Given the description of an element on the screen output the (x, y) to click on. 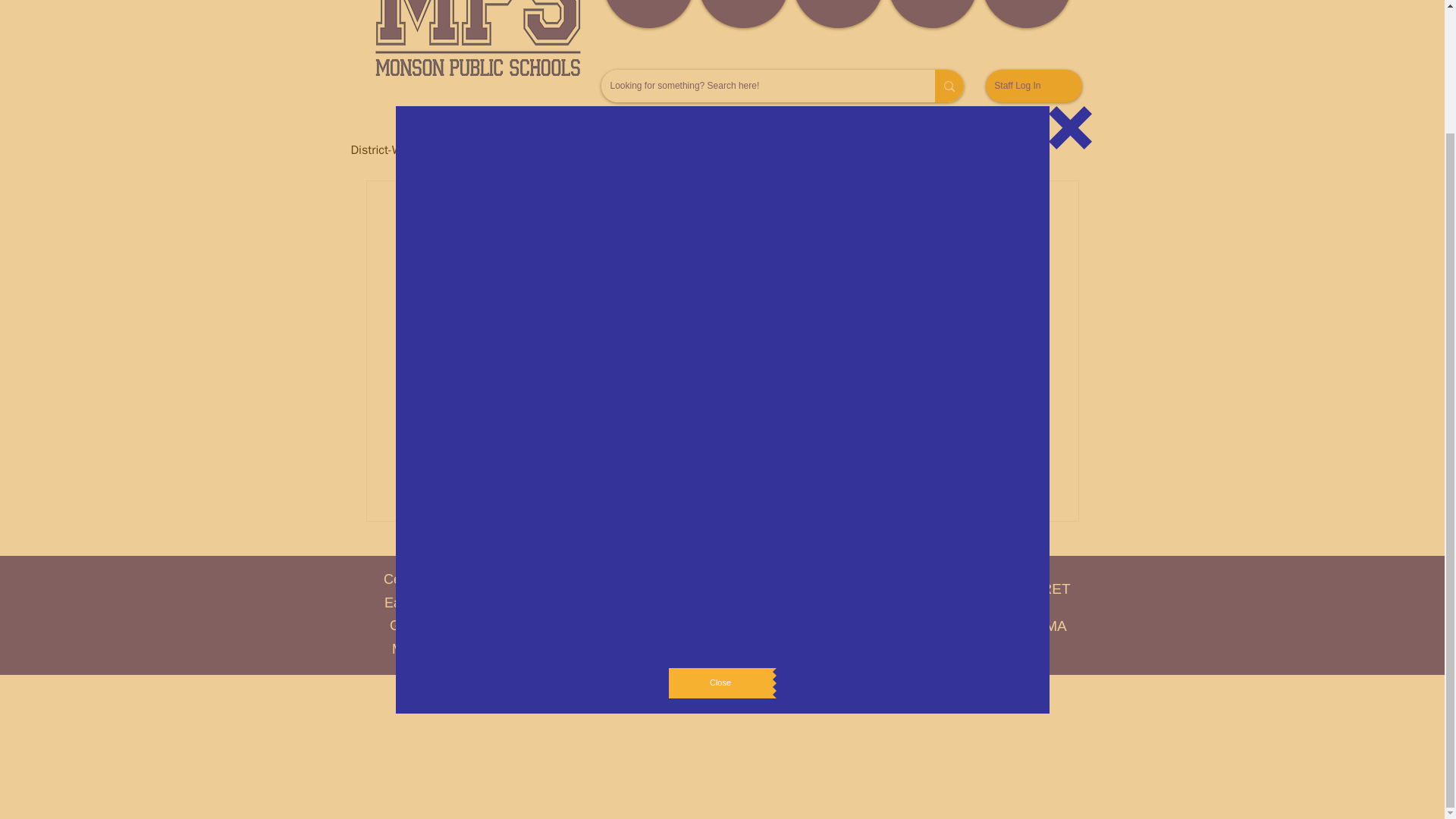
CONTACT (1025, 13)
ECC Announcements (592, 149)
Back to site (1070, 0)
HOME (649, 13)
DEPARTMENTS (742, 13)
GVS Announcements (733, 149)
LEADERSHIP (931, 13)
District-Wide Announcements (427, 149)
Staff Log In (1033, 86)
MHS Announcements (875, 149)
RESOURCES (838, 13)
